Given the description of an element on the screen output the (x, y) to click on. 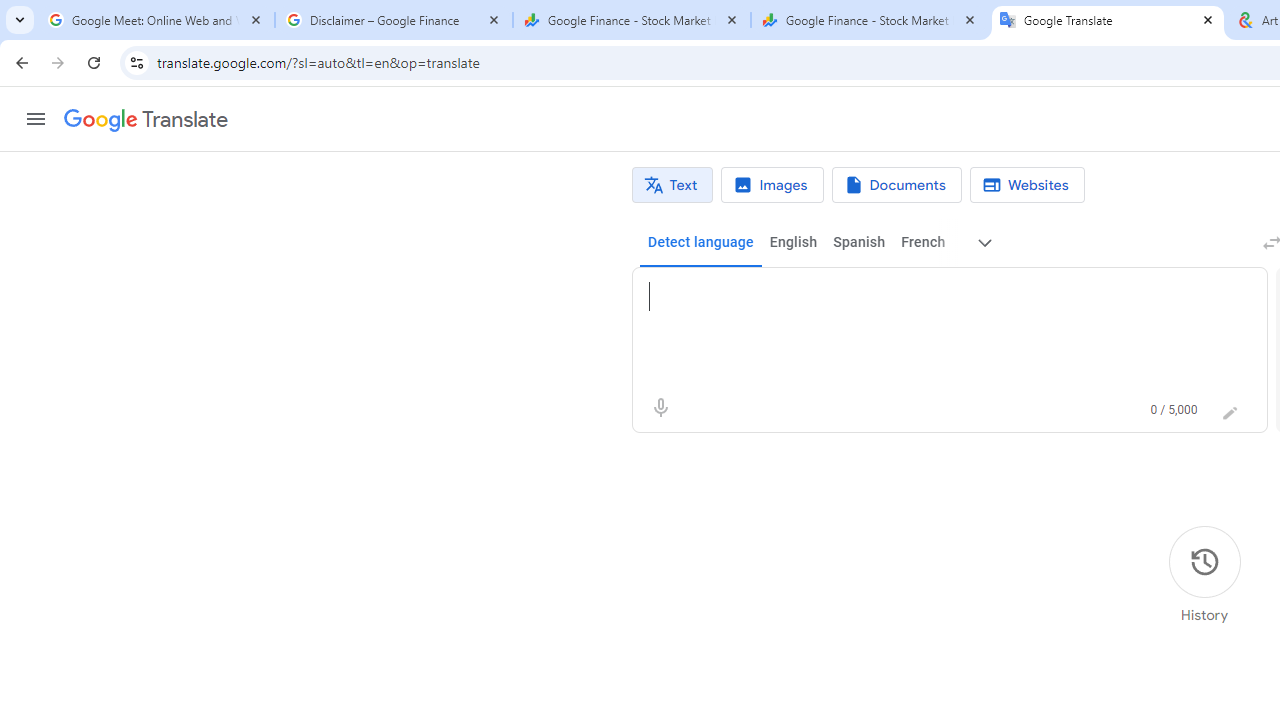
Document translation (896, 185)
Image translation (772, 185)
Google Translate (145, 120)
Website translation (1026, 185)
Text translation (672, 185)
History (1204, 575)
